Given the description of an element on the screen output the (x, y) to click on. 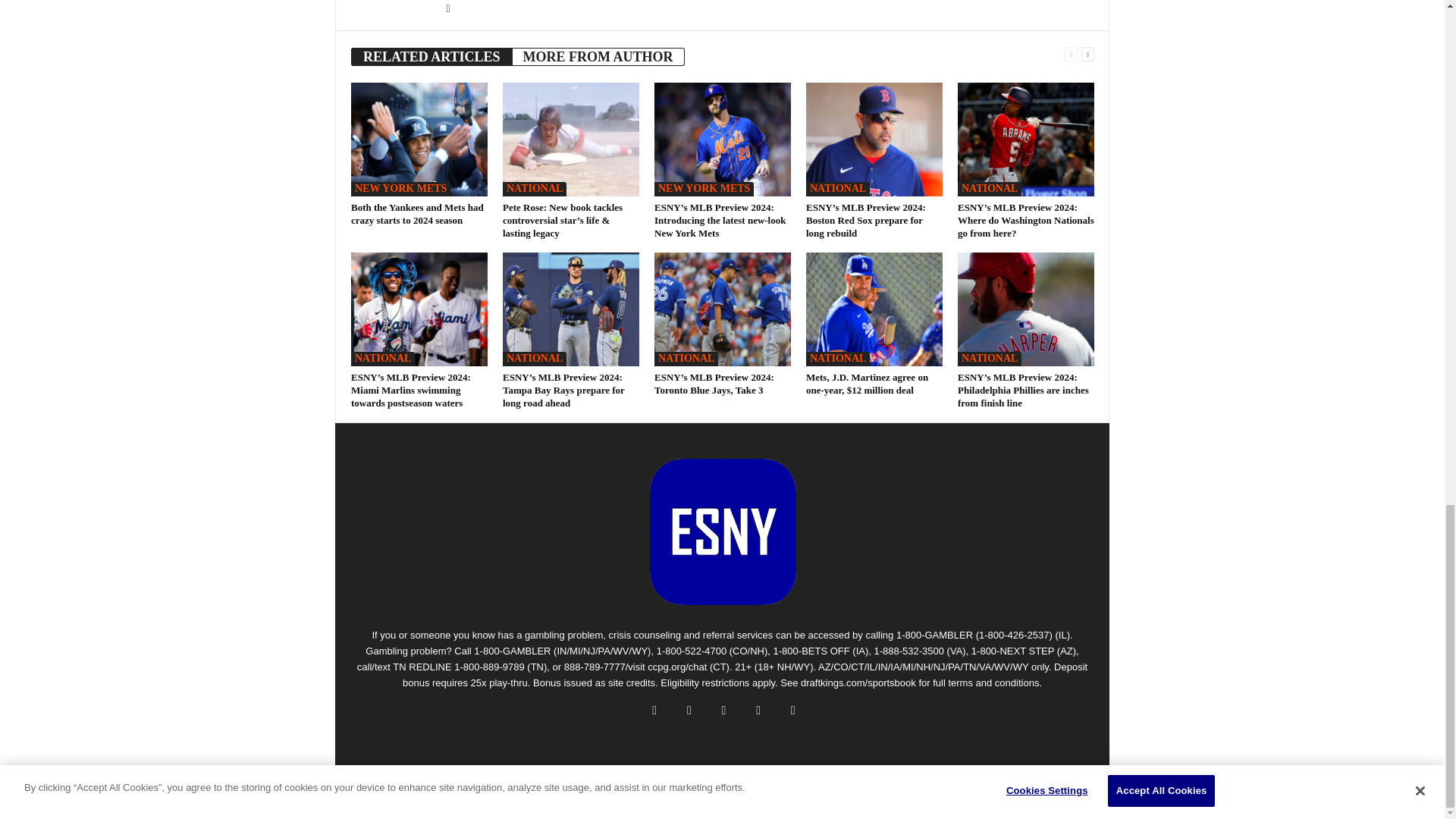
Twitter (448, 9)
Both the Yankees and Mets had crazy starts to 2024 season (418, 139)
Both the Yankees and Mets had crazy starts to 2024 season (416, 213)
